Given the description of an element on the screen output the (x, y) to click on. 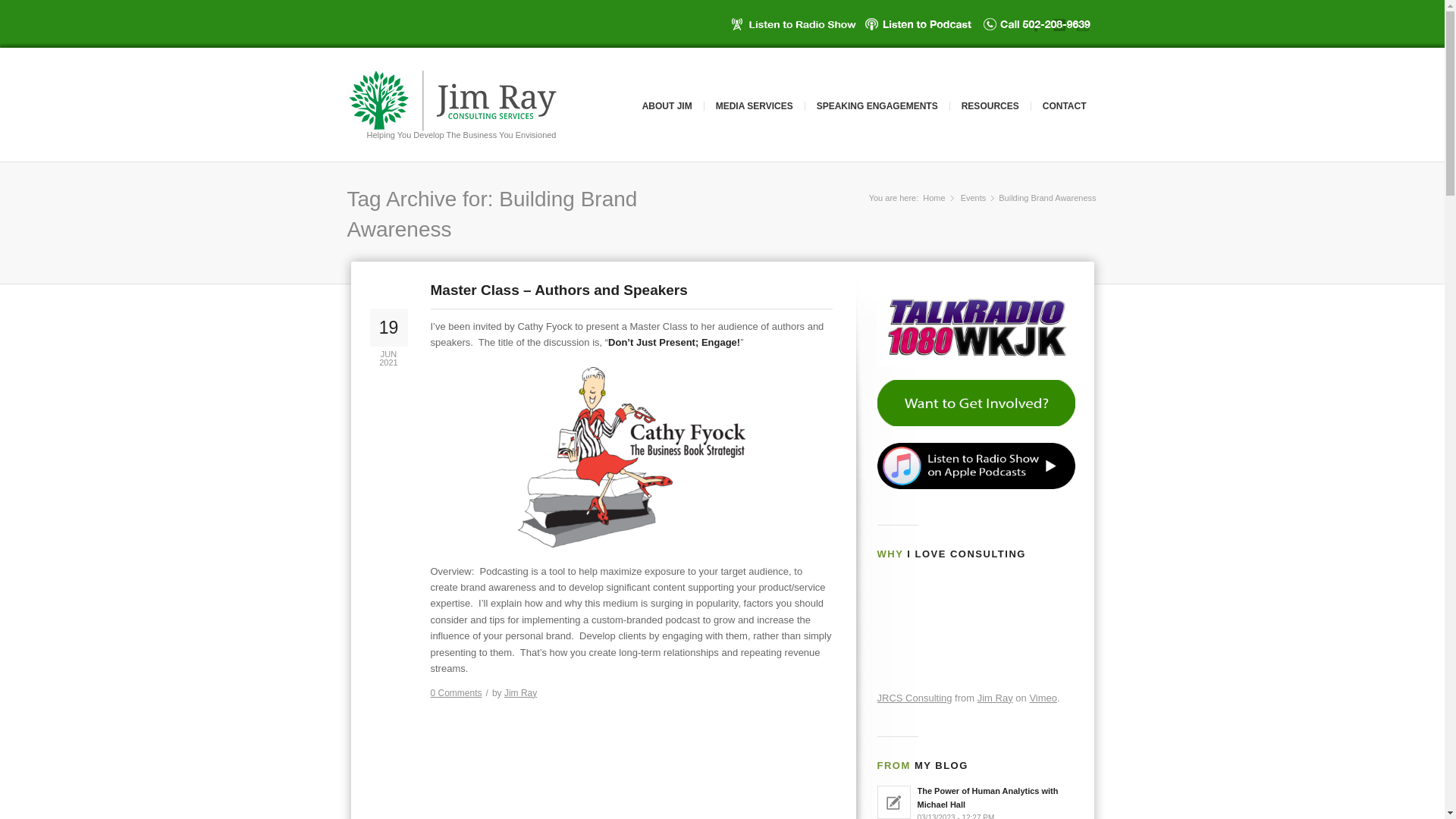
JRCS Consulting (914, 697)
0 Comments (455, 692)
MEDIA SERVICES (754, 105)
Facebook (1035, 24)
Jim Ray (520, 692)
Youtube (1082, 24)
CONTACT (1063, 105)
RESOURCES (989, 105)
Vimeo (1043, 697)
The Power of Human Analytics with Michael Hall (975, 800)
